Given the description of an element on the screen output the (x, y) to click on. 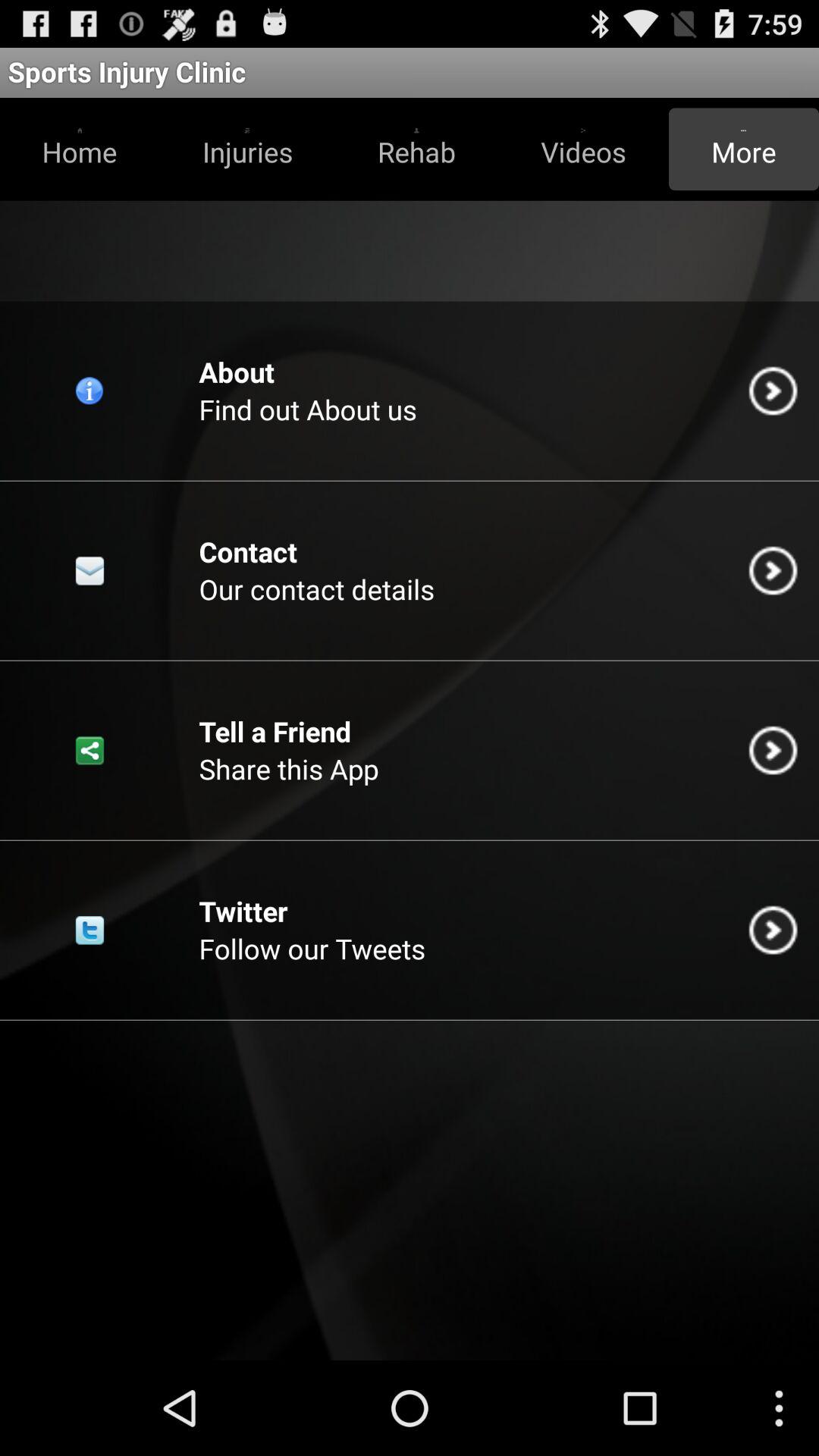
turn on item below share this app (243, 910)
